Given the description of an element on the screen output the (x, y) to click on. 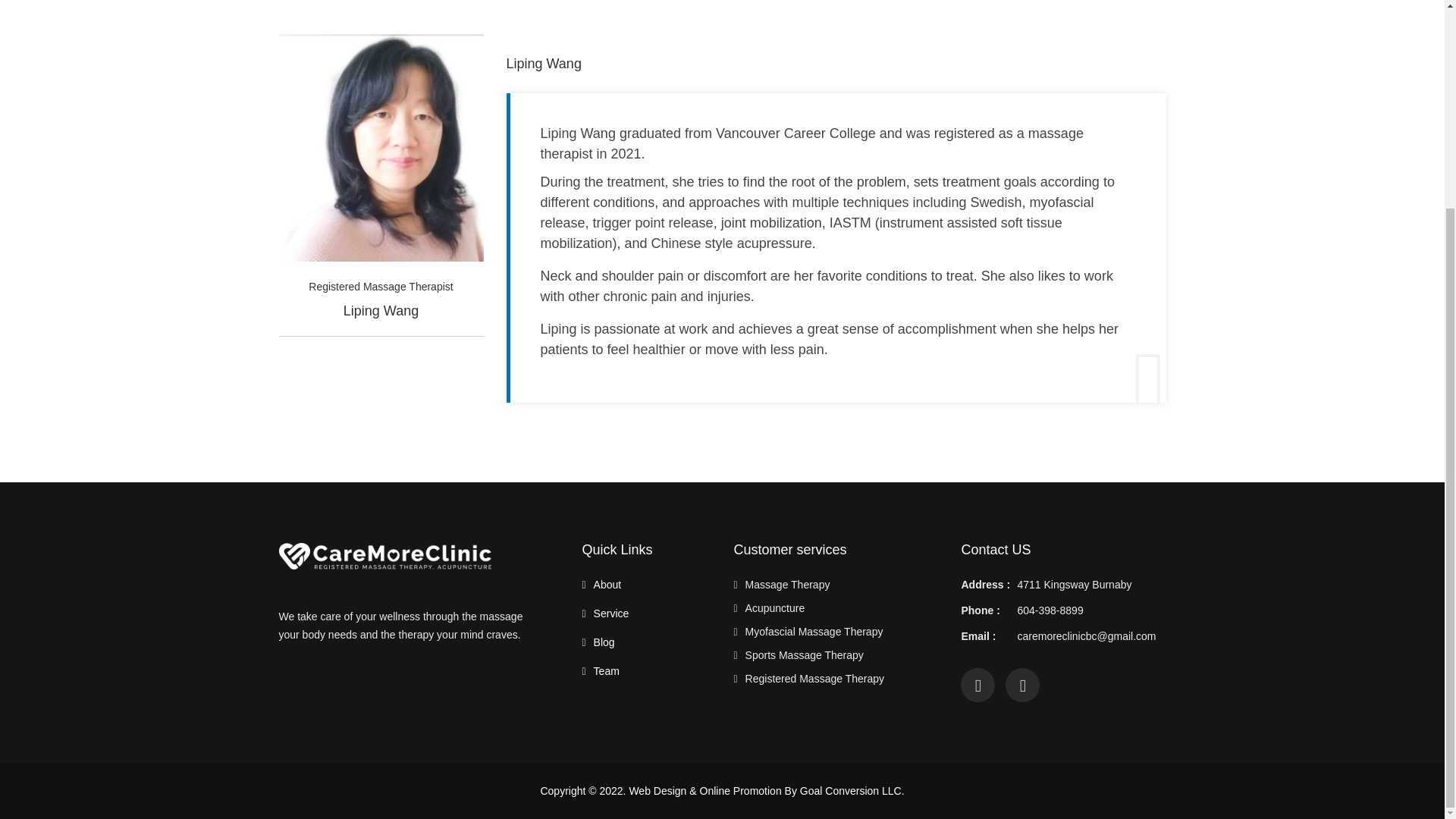
Myofascial Massage Therapy (814, 631)
604-398-8899 (1049, 610)
Massage Therapy (787, 584)
Service (611, 613)
Sports Massage Therapy (804, 654)
Blog (604, 642)
Team (607, 671)
Registered Massage Therapy (814, 678)
Acupuncture (775, 607)
About (607, 584)
